Given the description of an element on the screen output the (x, y) to click on. 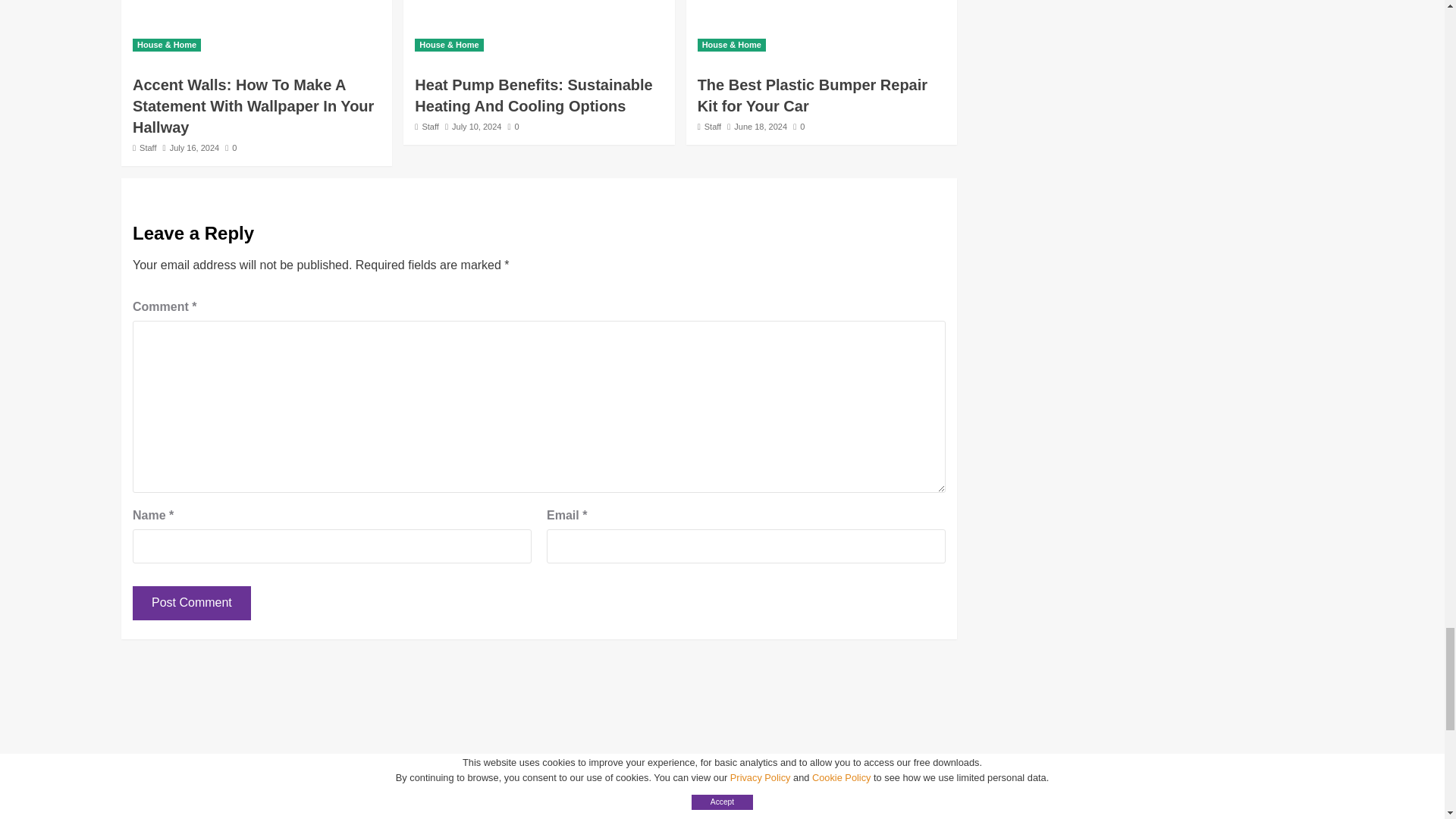
Post Comment (191, 602)
